Given the description of an element on the screen output the (x, y) to click on. 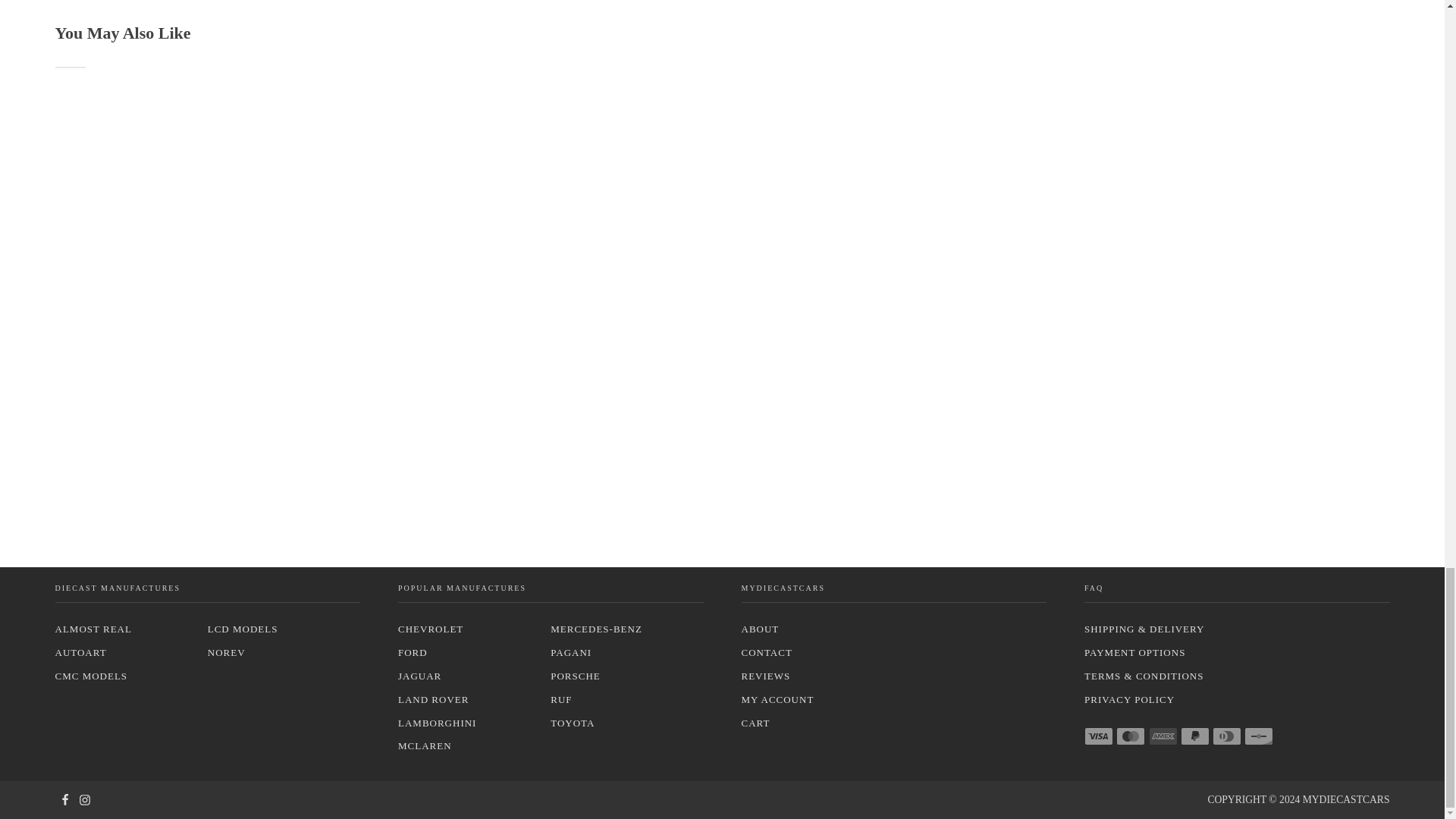
Diners Club (1226, 736)
PayPal (1194, 736)
Visa (1098, 736)
Mastercard (1130, 736)
American Express (1162, 736)
Discover (1258, 736)
